Given the description of an element on the screen output the (x, y) to click on. 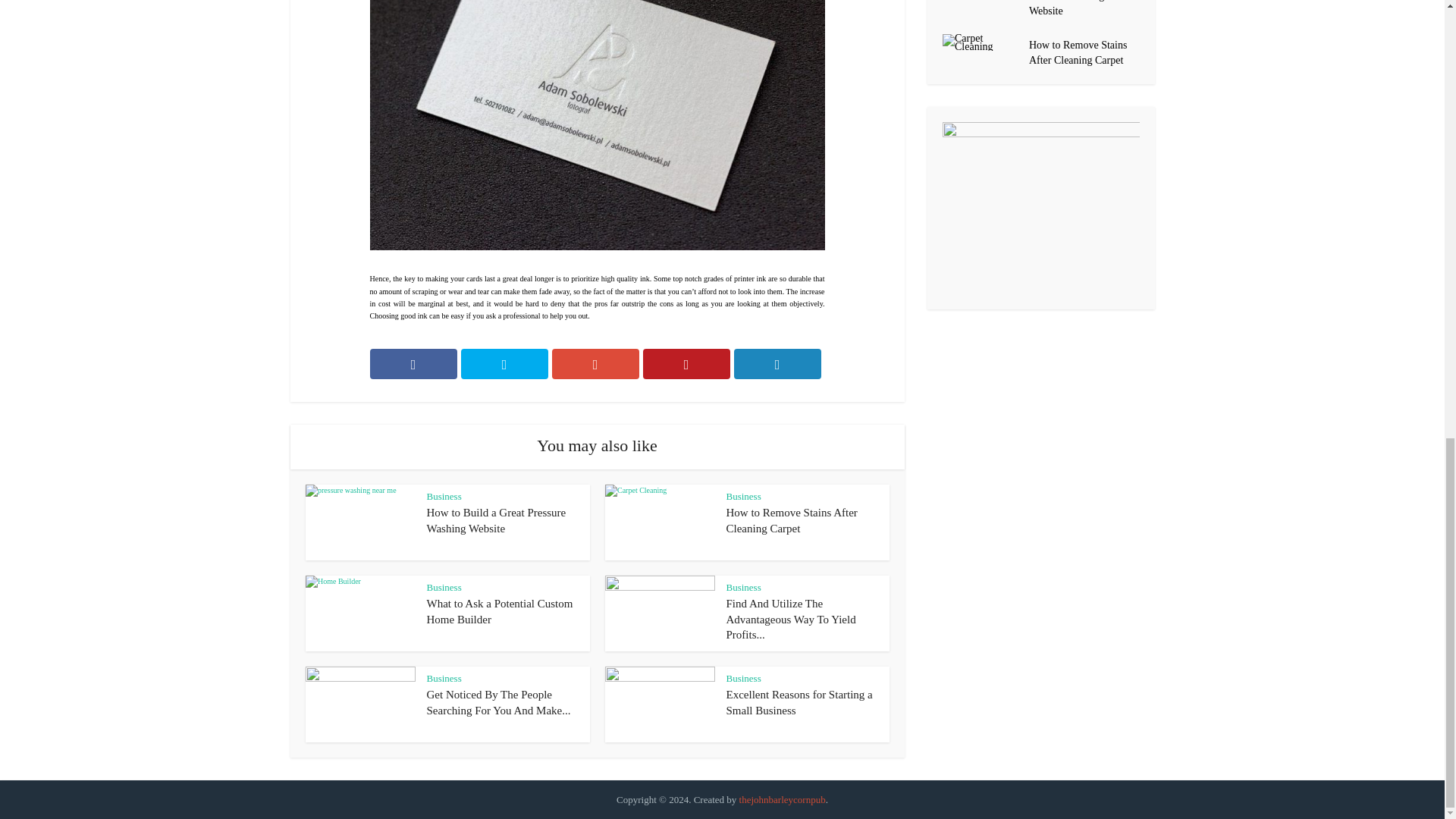
How to Remove Stains After Cleaning Carpet (791, 519)
What to Ask a Potential Custom Home Builder (499, 610)
Business (443, 677)
Find And Utilize The Advantageous Way To Yield Profits... (791, 618)
Business (743, 586)
How to Remove Stains After Cleaning Carpet (791, 519)
Business (443, 496)
Excellent Reasons for Starting a Small Business (799, 701)
Business (743, 677)
